Given the description of an element on the screen output the (x, y) to click on. 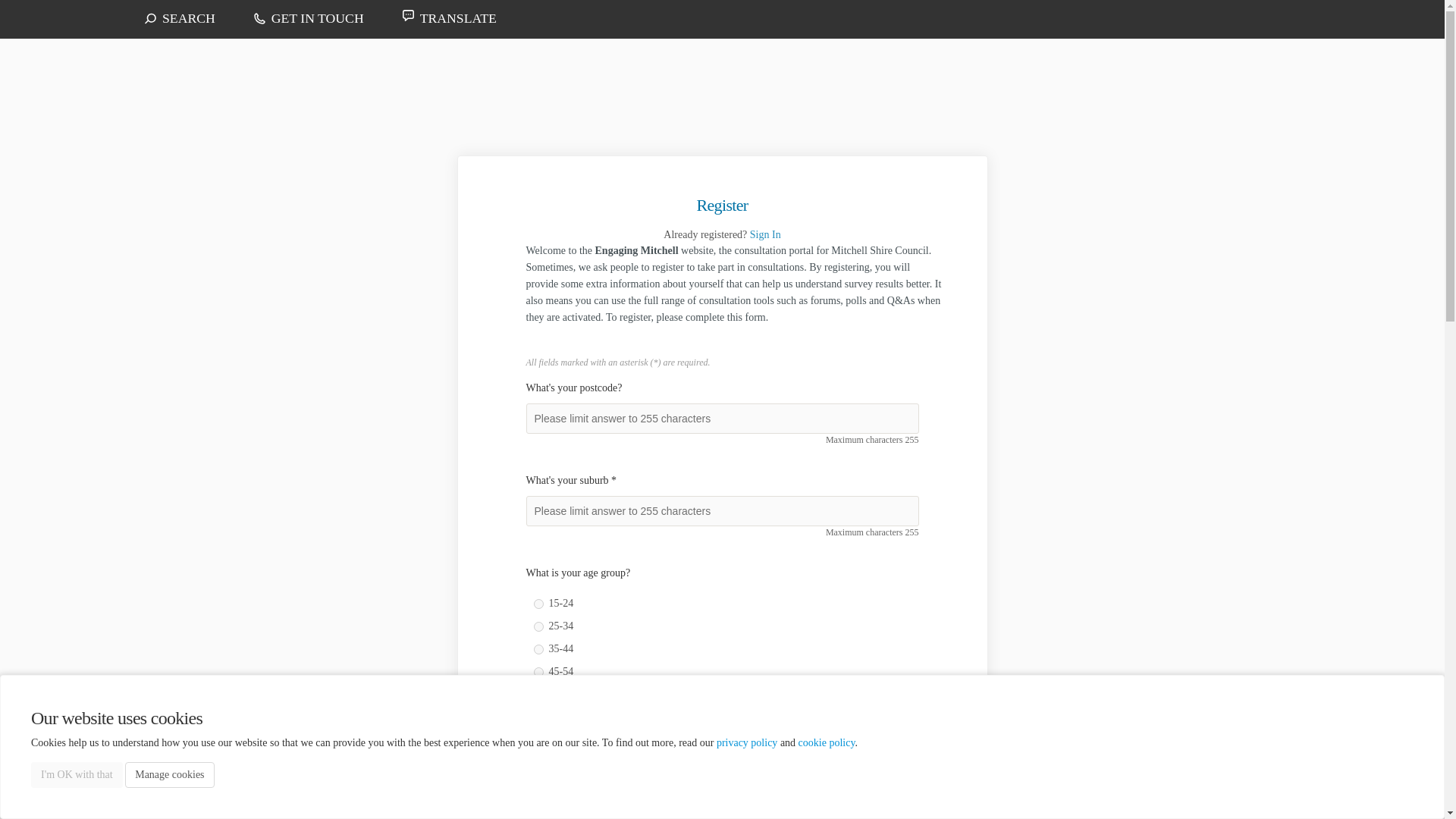
I'm OK with that (76, 774)
81287 (538, 626)
81290 (538, 695)
81288 (538, 649)
SEARCH (198, 18)
Sign In (764, 234)
81292 (538, 740)
81286 (538, 603)
94350 (538, 786)
81289 (538, 672)
GET IN TOUCH (327, 18)
cookie policy (826, 742)
81293 (538, 763)
81291 (538, 717)
privacy policy (746, 742)
